Given the description of an element on the screen output the (x, y) to click on. 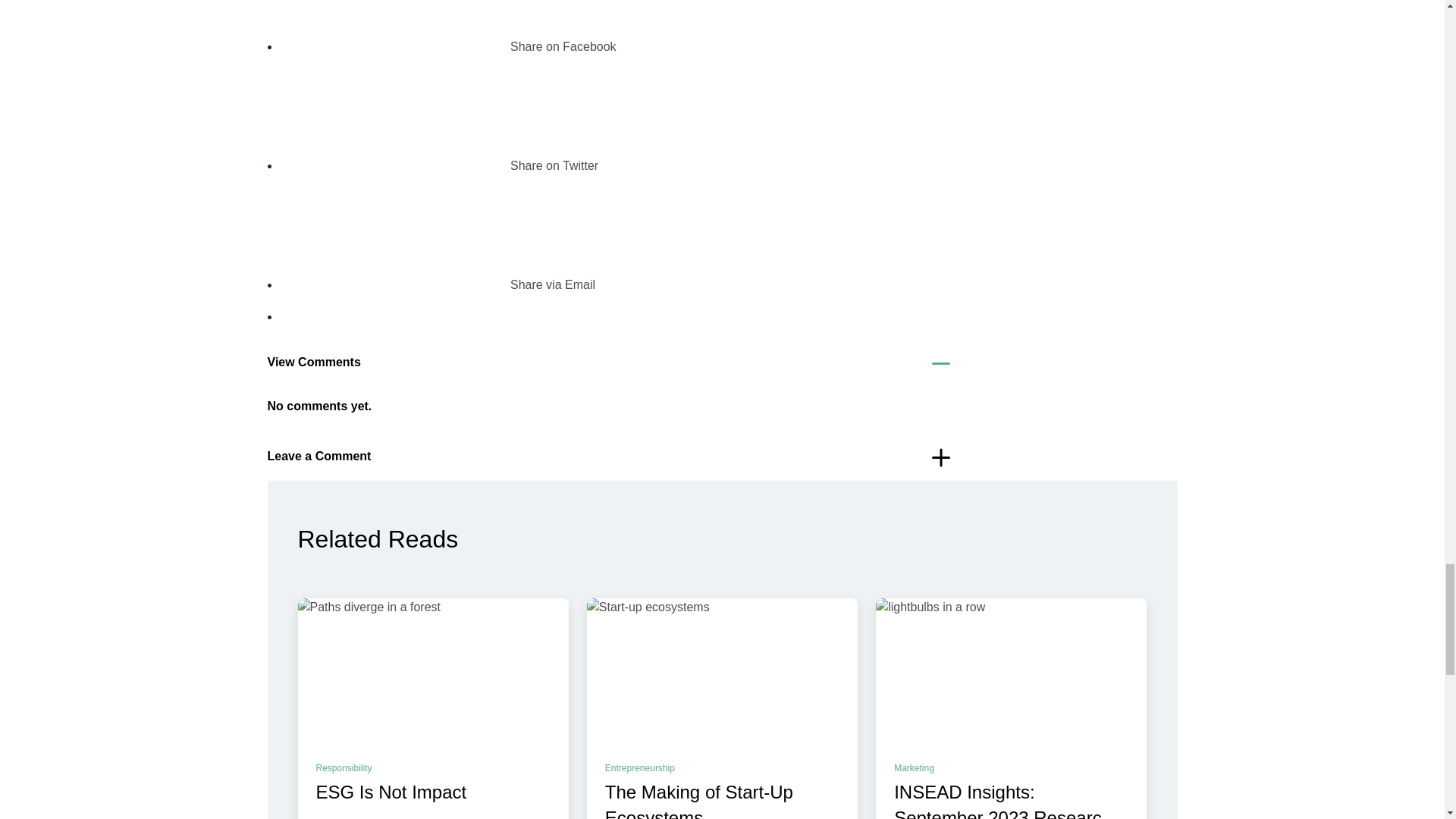
insead research highlights issue 1 (1011, 674)
Download PDF (292, 307)
Share on Twitter (438, 164)
Share via Email (437, 284)
Diverging paths (432, 674)
Share on Facebook (447, 46)
